Given the description of an element on the screen output the (x, y) to click on. 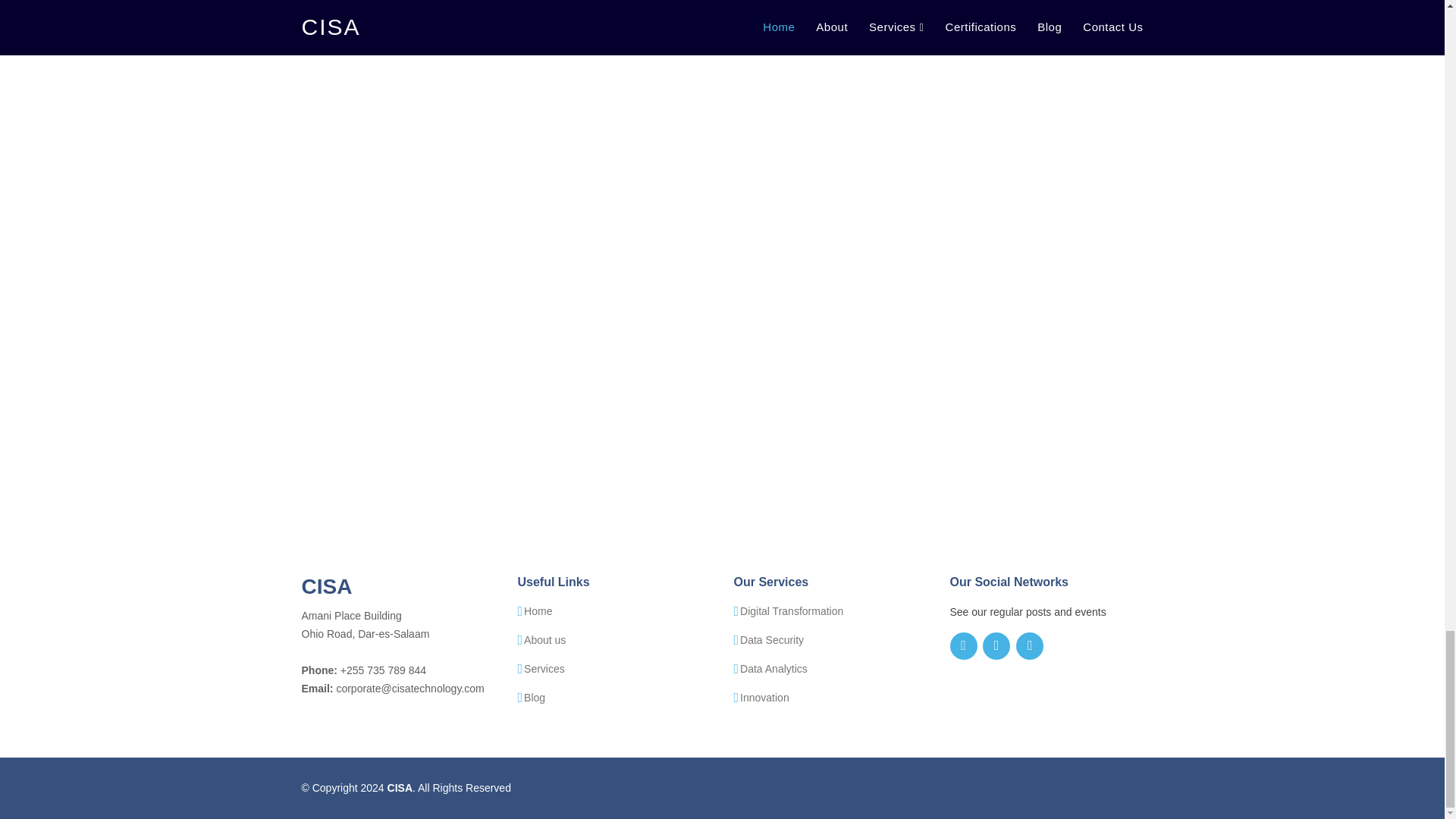
About us (545, 639)
Digital Transformation (791, 611)
Innovation (764, 697)
Data Security (771, 639)
Data Analytics (773, 668)
Blog (534, 697)
Services (544, 668)
Home (537, 611)
